Given the description of an element on the screen output the (x, y) to click on. 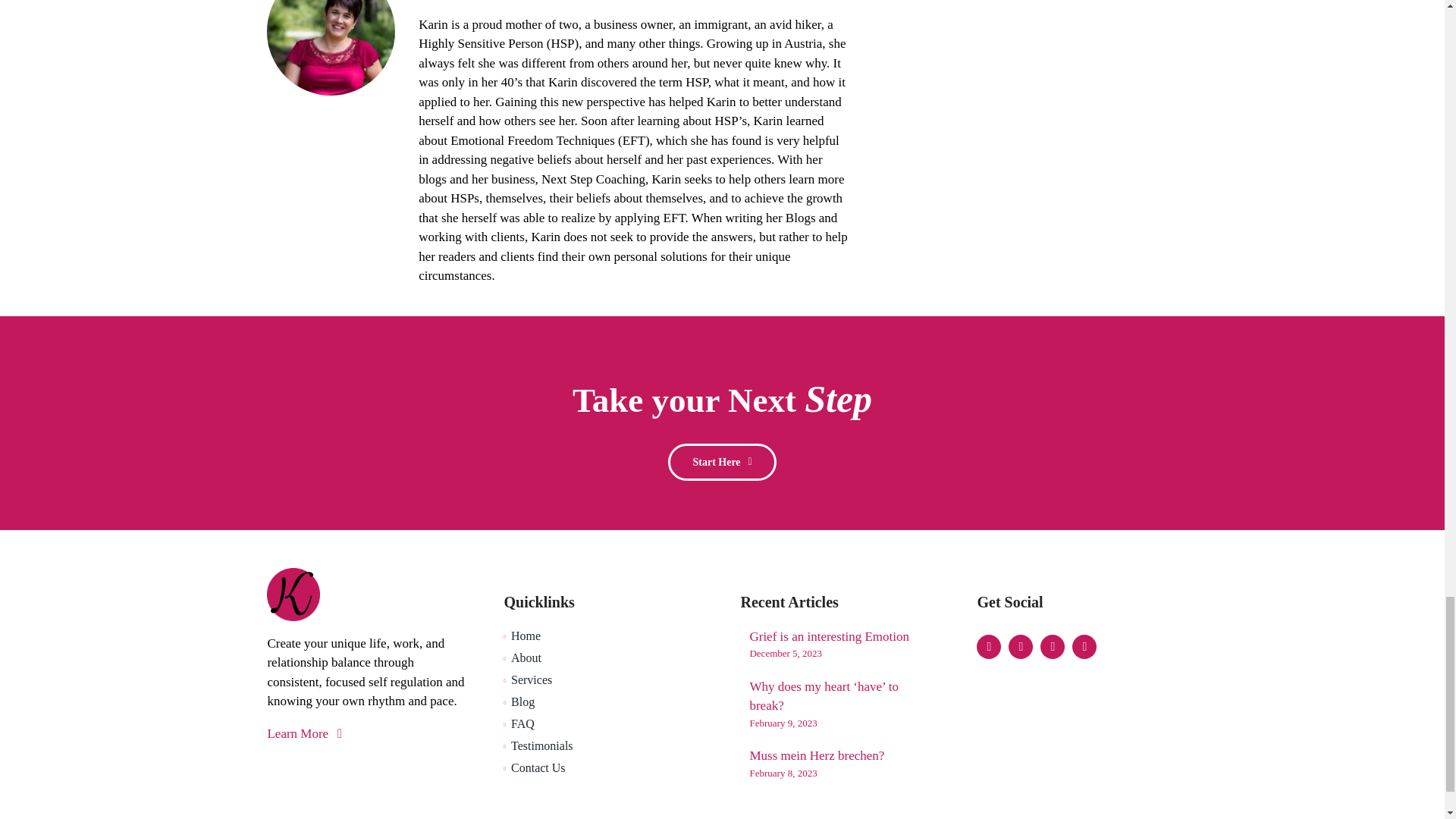
Start Here (722, 461)
About (603, 658)
Blog (603, 701)
Learn More (366, 736)
FAQ (603, 723)
Karin-thankyou-page (330, 47)
Services (603, 679)
Testimonials (603, 746)
Home (603, 636)
